Given the description of an element on the screen output the (x, y) to click on. 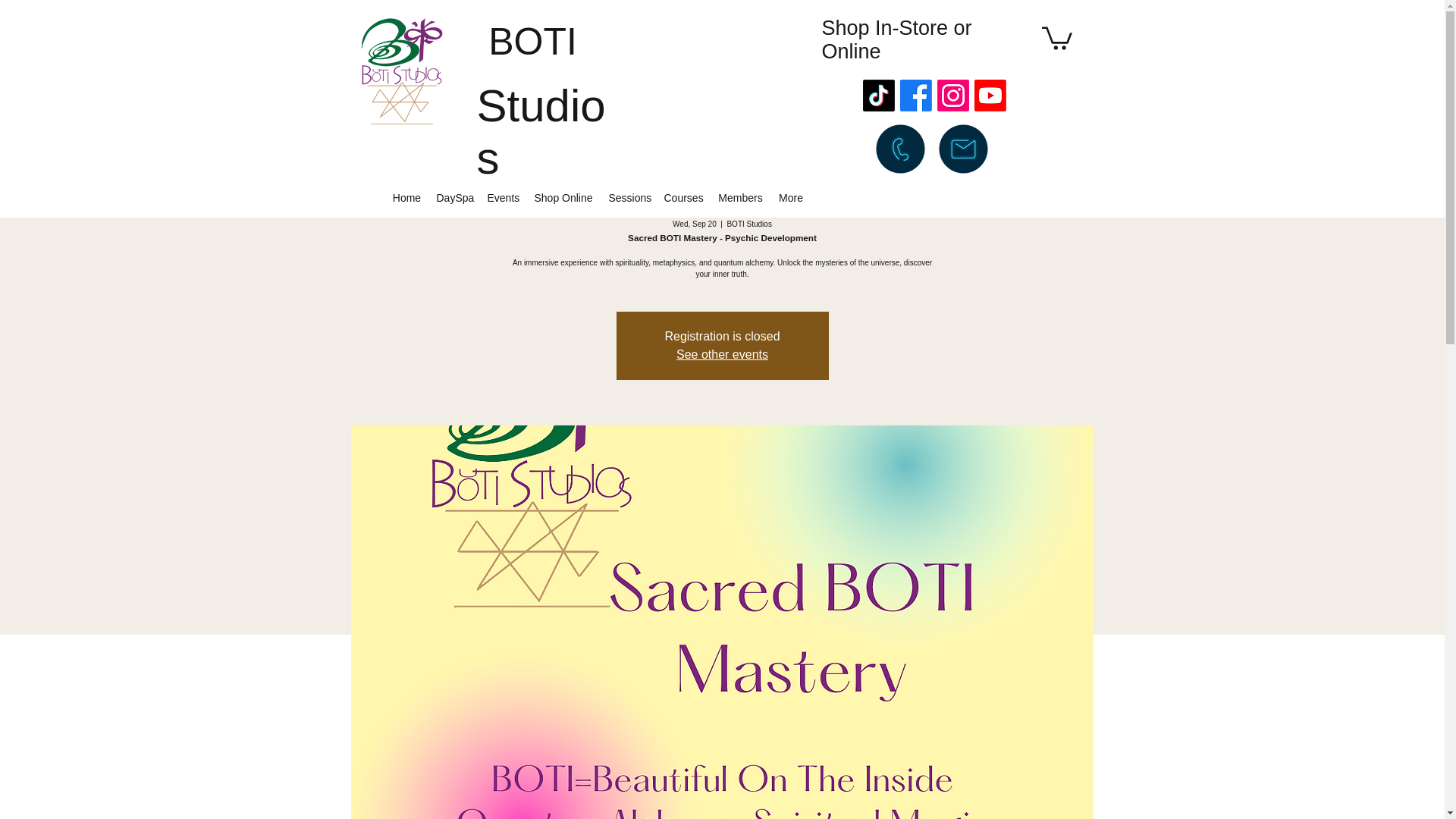
DaySpa (454, 197)
Home (407, 197)
Events (502, 197)
Shop Online (563, 197)
See other events (722, 354)
Courses (683, 197)
Sessions (627, 197)
BOTI (531, 41)
Members (740, 197)
